Given the description of an element on the screen output the (x, y) to click on. 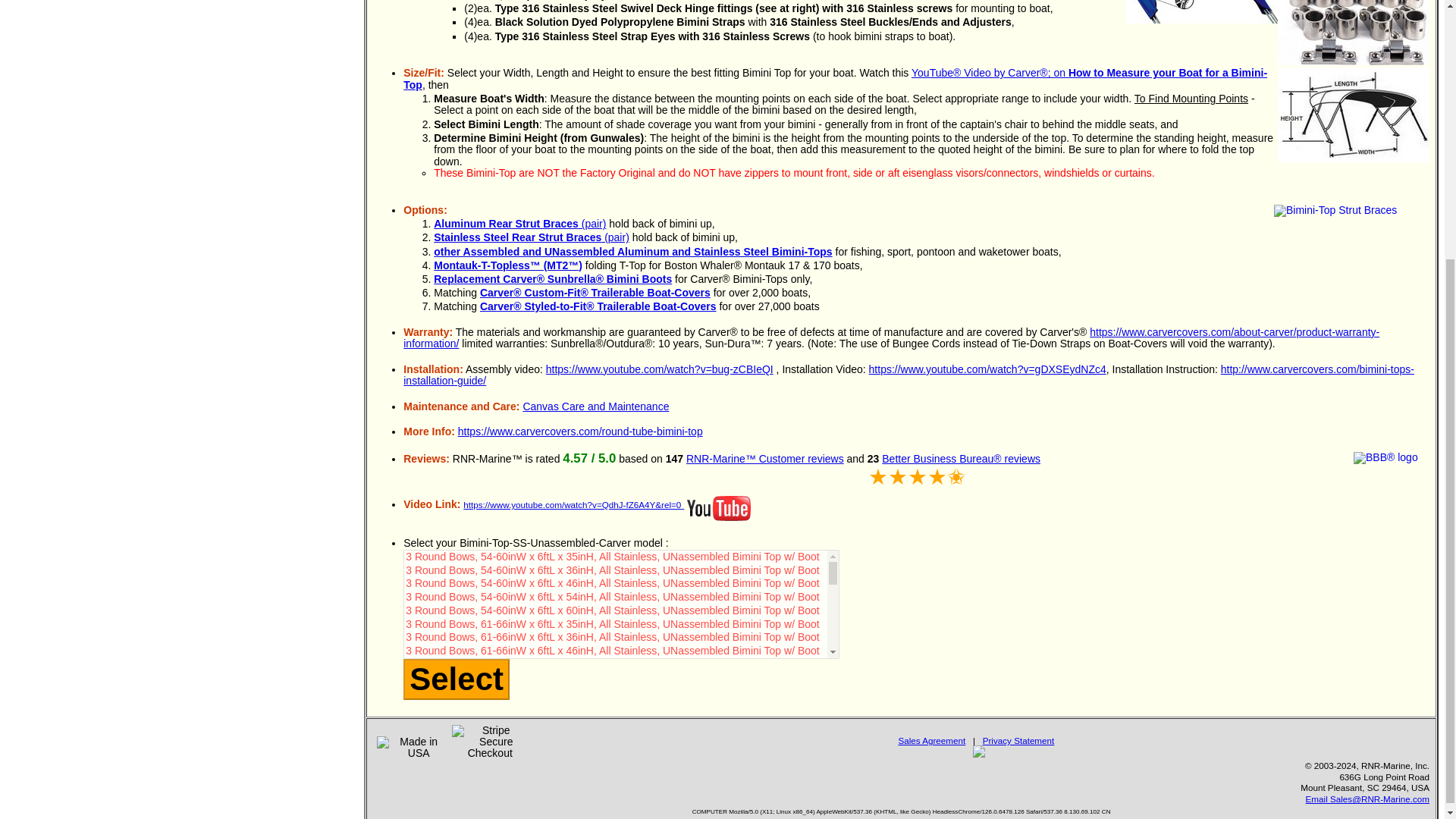
Click to Enbnlarge (1353, 114)
Please click to read our Customer Reviews (764, 458)
Select (456, 679)
